Given the description of an element on the screen output the (x, y) to click on. 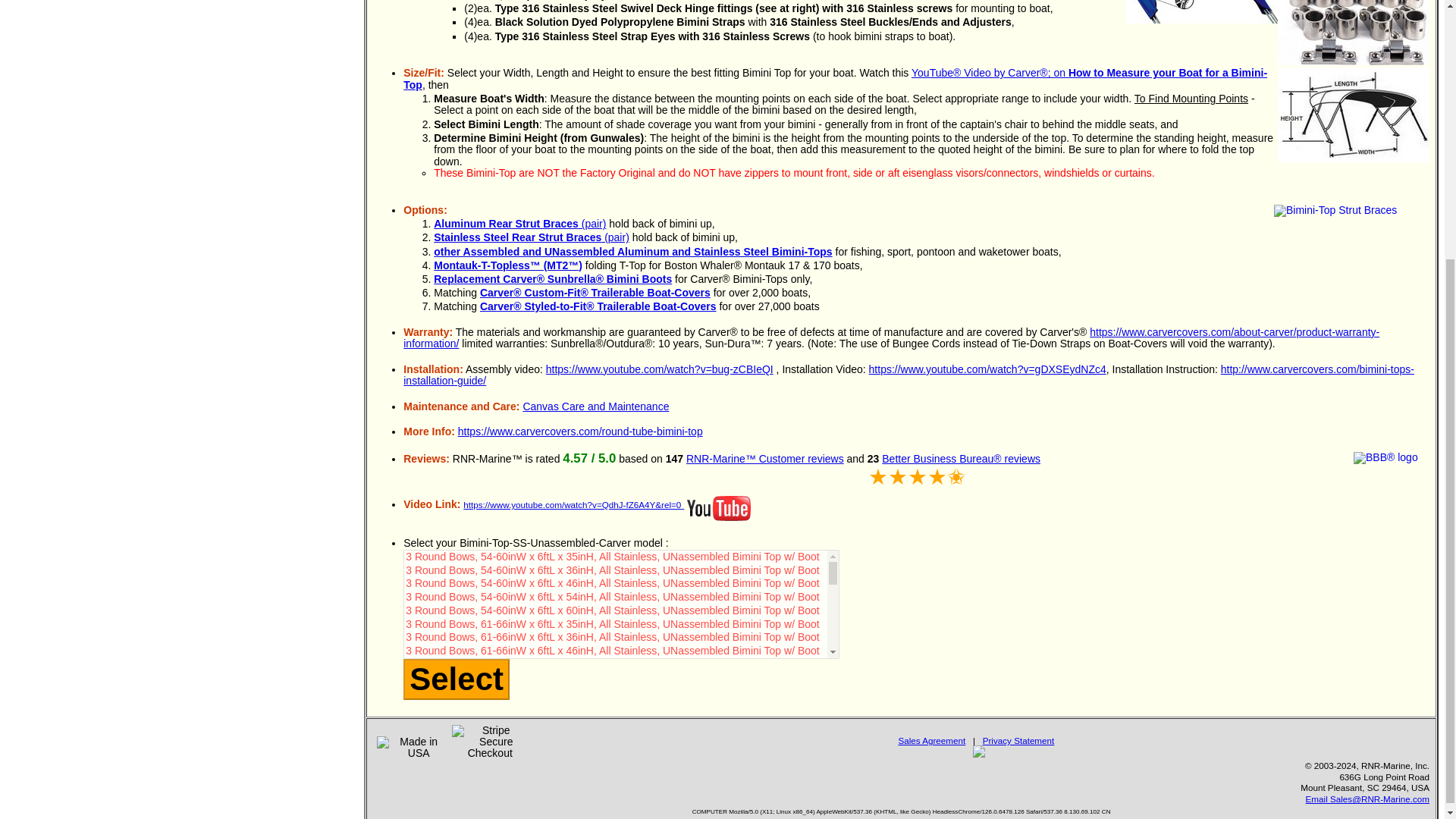
Click to Enbnlarge (1353, 114)
Please click to read our Customer Reviews (764, 458)
Select (456, 679)
